Given the description of an element on the screen output the (x, y) to click on. 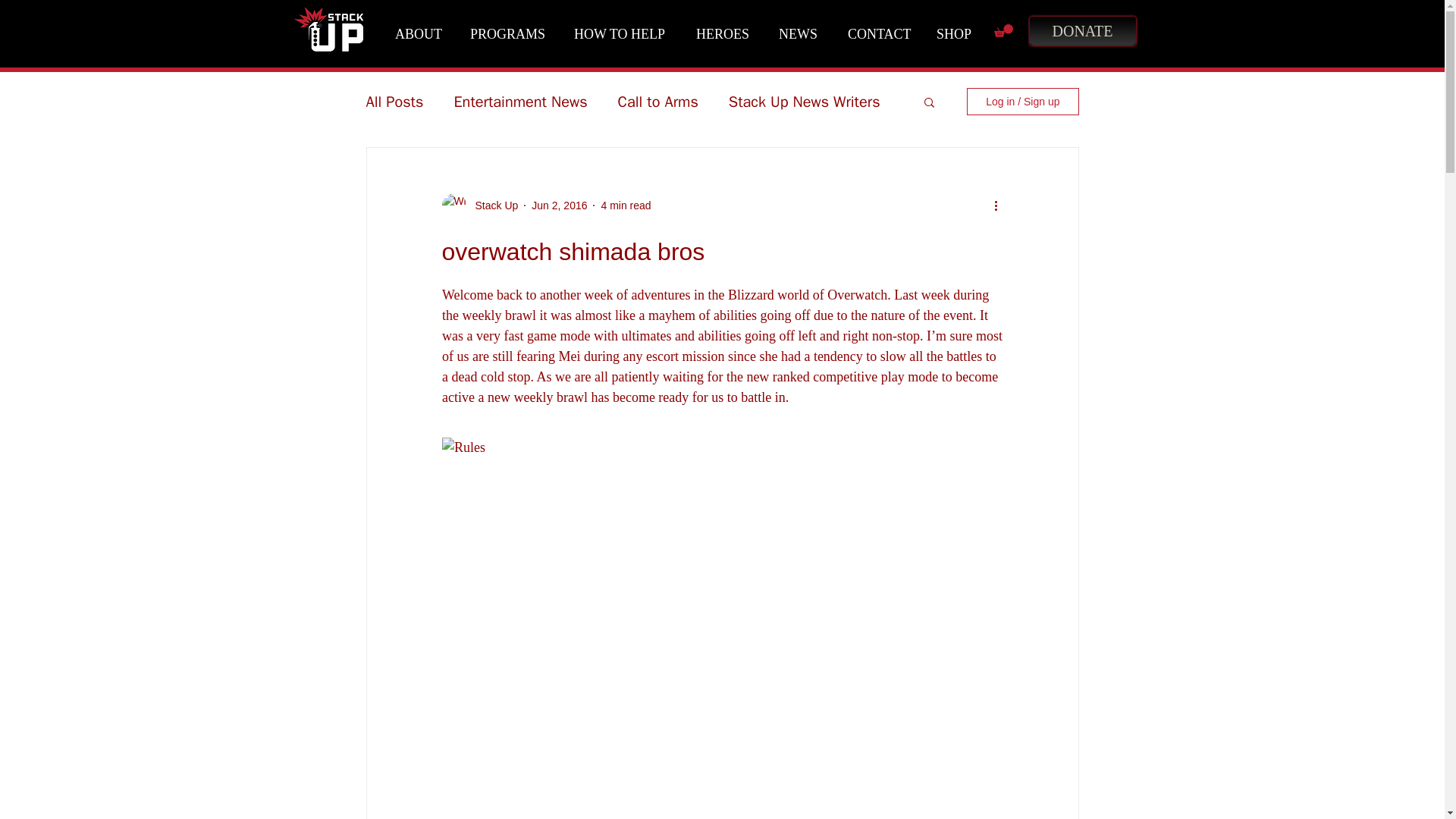
SHOP (957, 34)
DONATE (1081, 30)
HOW TO HELP (623, 34)
Jun 2, 2016 (558, 204)
Entertainment News (519, 100)
All Posts (394, 100)
Stack Up (491, 204)
Call to Arms (657, 100)
4 min read (624, 204)
Stack Up News Writers (804, 100)
